Given the description of an element on the screen output the (x, y) to click on. 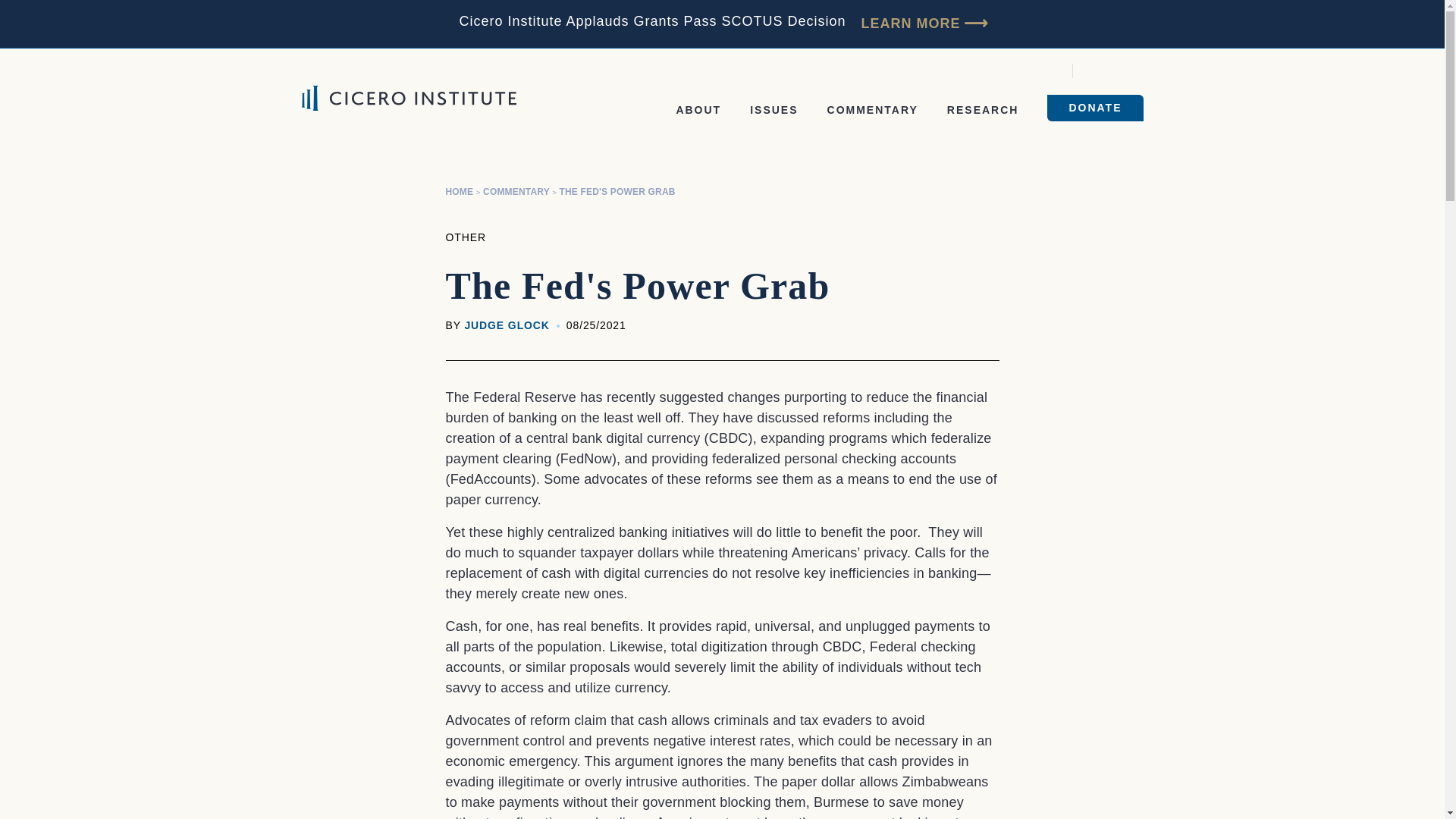
ISSUES (773, 110)
COMMENTARY (516, 191)
COMMENTARY (872, 110)
Search (1095, 71)
OTHER (465, 236)
RESEARCH (983, 110)
HOME (459, 191)
ABOUT (697, 110)
DONATE (1094, 108)
JUDGE GLOCK (506, 325)
LEARN MORE (923, 23)
